Given the description of an element on the screen output the (x, y) to click on. 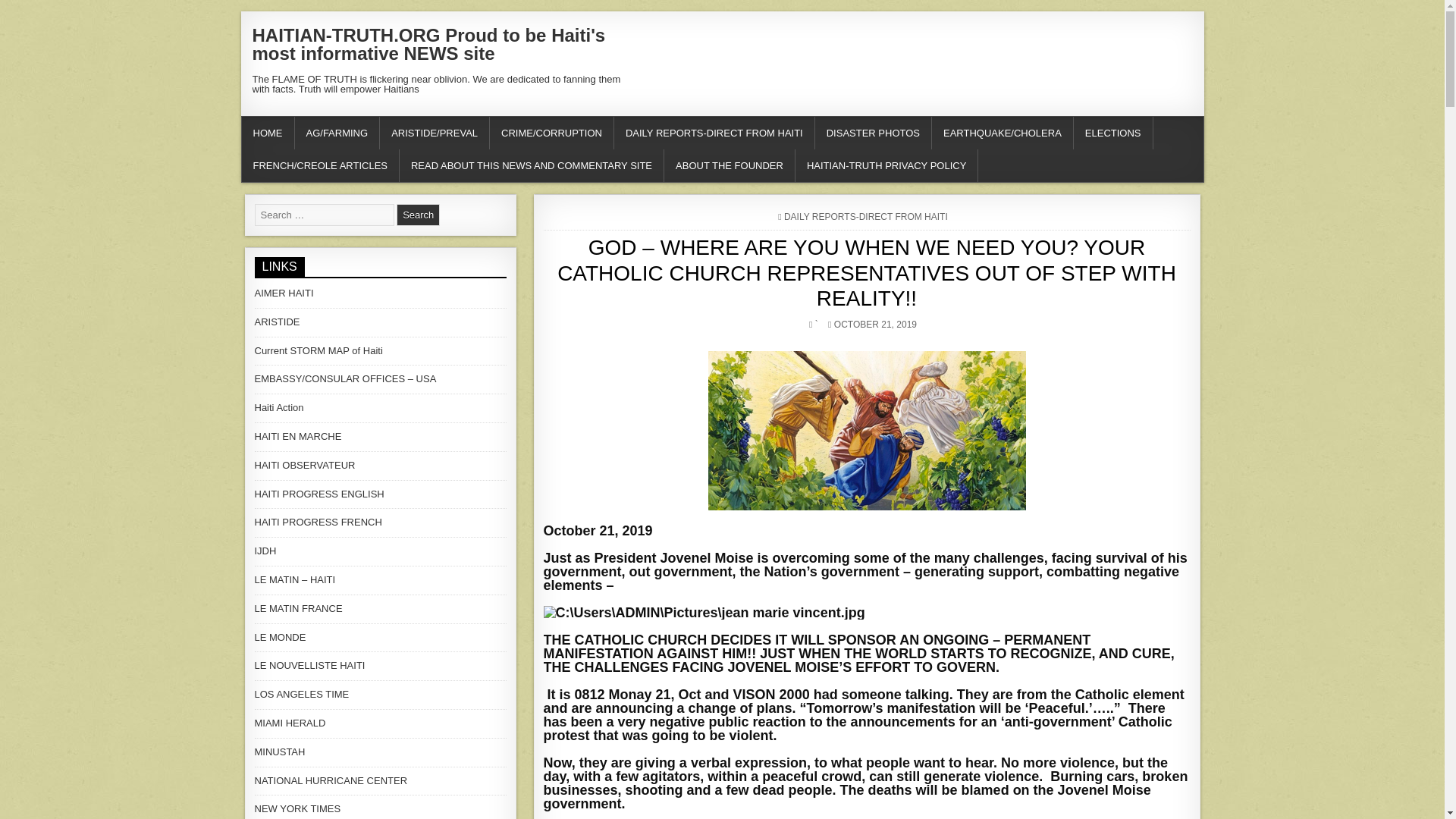
DISASTER PHOTOS (873, 133)
READ ABOUT THIS NEWS AND COMMENTARY SITE (530, 165)
IJDH (265, 550)
Search (417, 214)
HOME (267, 133)
Current STORM MAP of Haiti (318, 350)
HAITI OBSERVATEUR (304, 464)
HAITI PROGRESS ENGLISH (319, 493)
HAITI EN MARCHE (298, 436)
ARISTIDE (276, 321)
DAILY REPORTS-DIRECT FROM HAITI (865, 216)
HAITIAN-TRUTH PRIVACY POLICY (886, 165)
AIMER HAITI (284, 292)
ABOUT THE FOUNDER (728, 165)
